Given the description of an element on the screen output the (x, y) to click on. 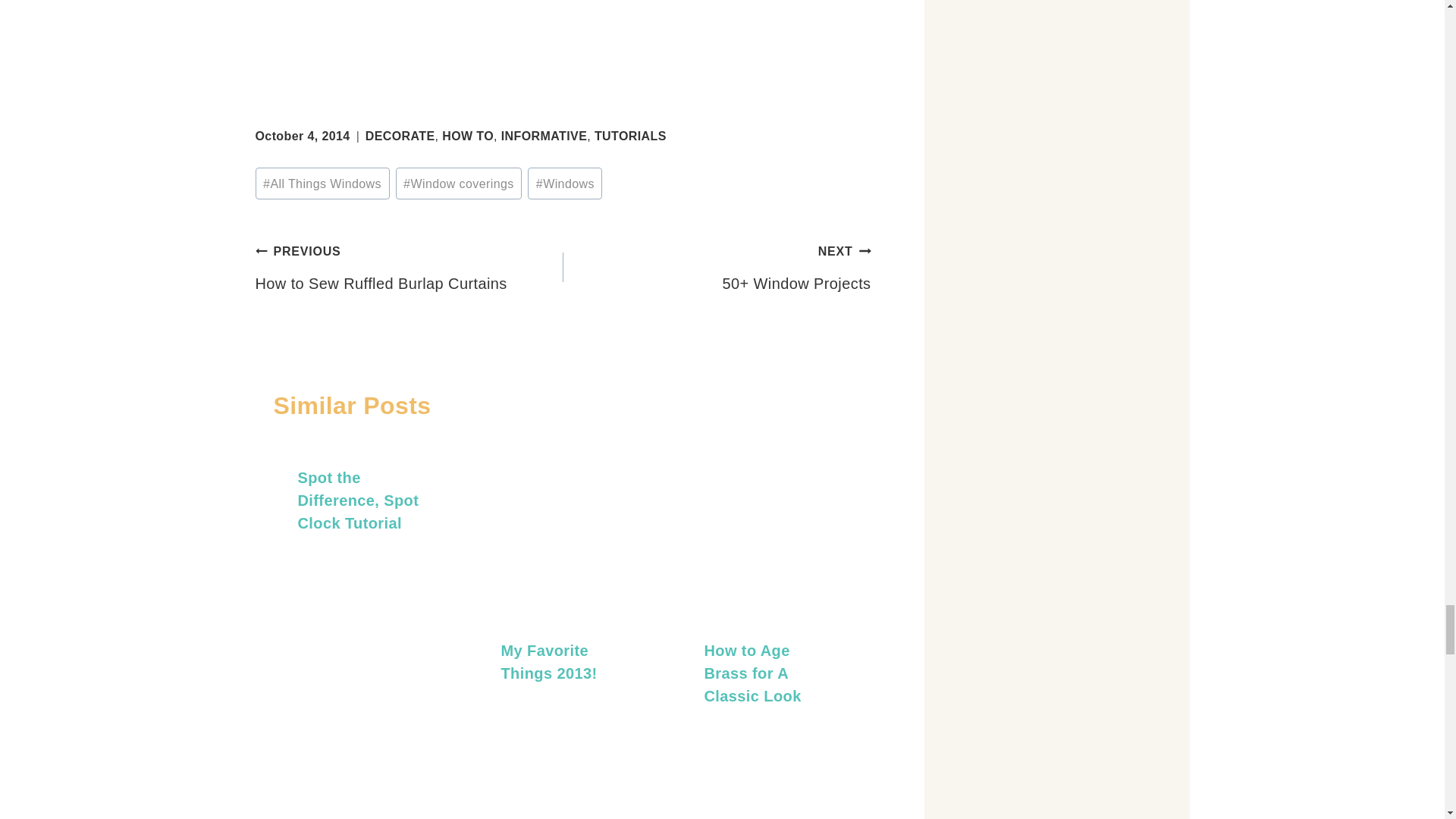
Window coverings (459, 183)
All Things Windows (321, 183)
Windows (564, 183)
